Given the description of an element on the screen output the (x, y) to click on. 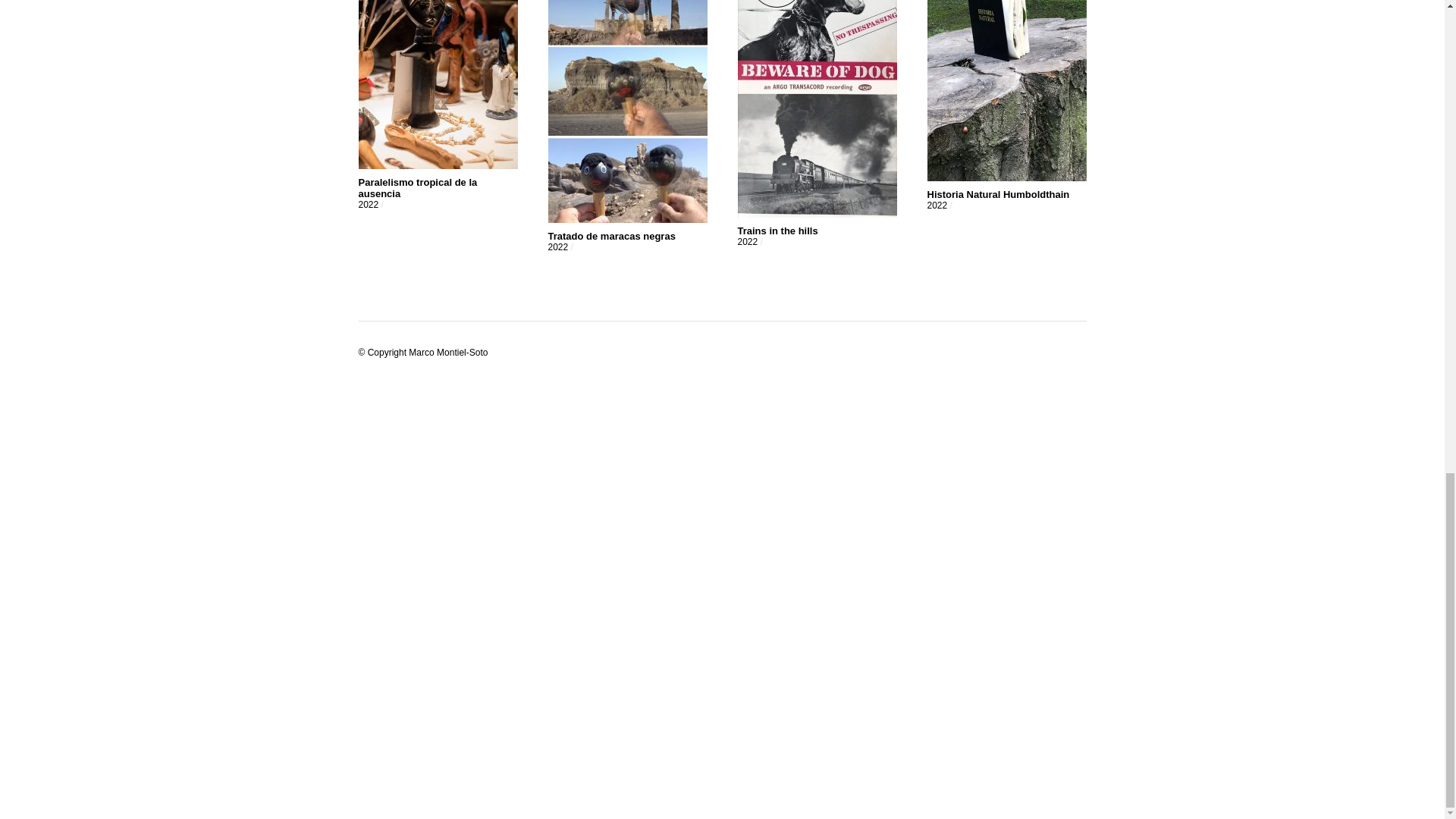
Tratado de maracas negras (611, 235)
Historia Natural Humboldthain (997, 194)
Trains in the hills (776, 230)
Paralelismo tropical de la ausencia (417, 187)
